Given the description of an element on the screen output the (x, y) to click on. 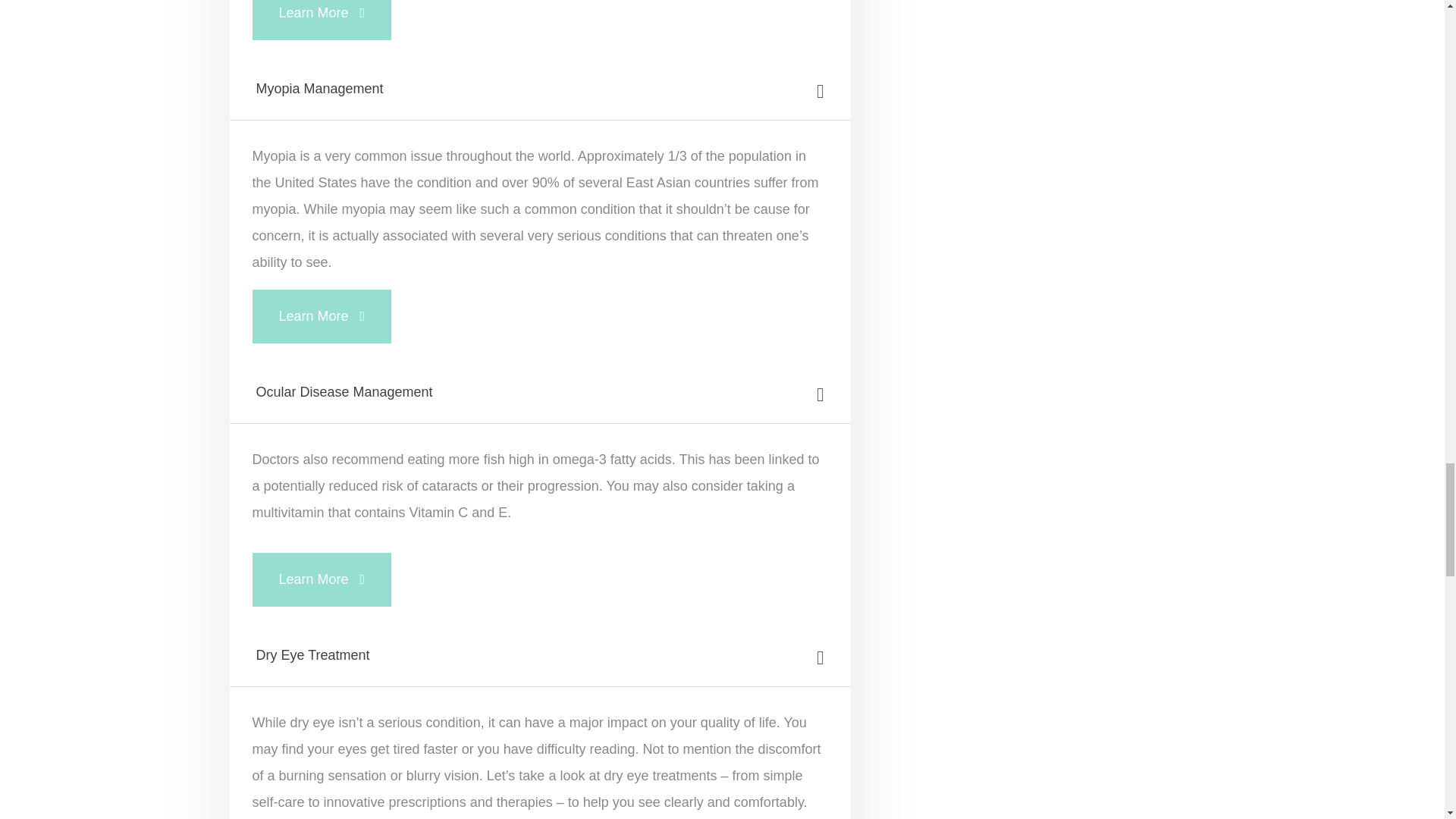
Learn More (321, 579)
Learn More (321, 316)
Learn More (321, 20)
